Given the description of an element on the screen output the (x, y) to click on. 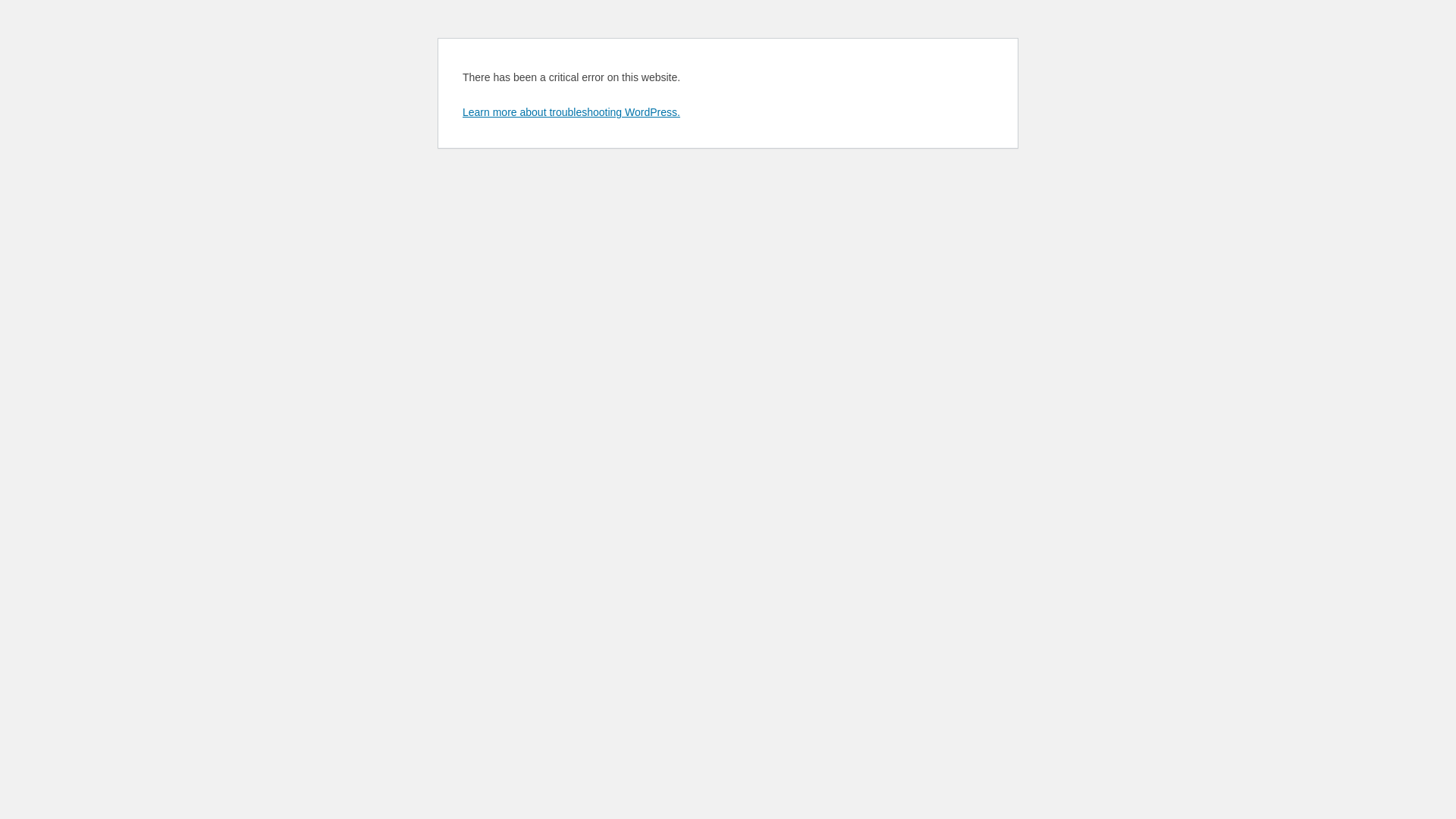
Learn more about troubleshooting WordPress. Element type: text (571, 112)
